Given the description of an element on the screen output the (x, y) to click on. 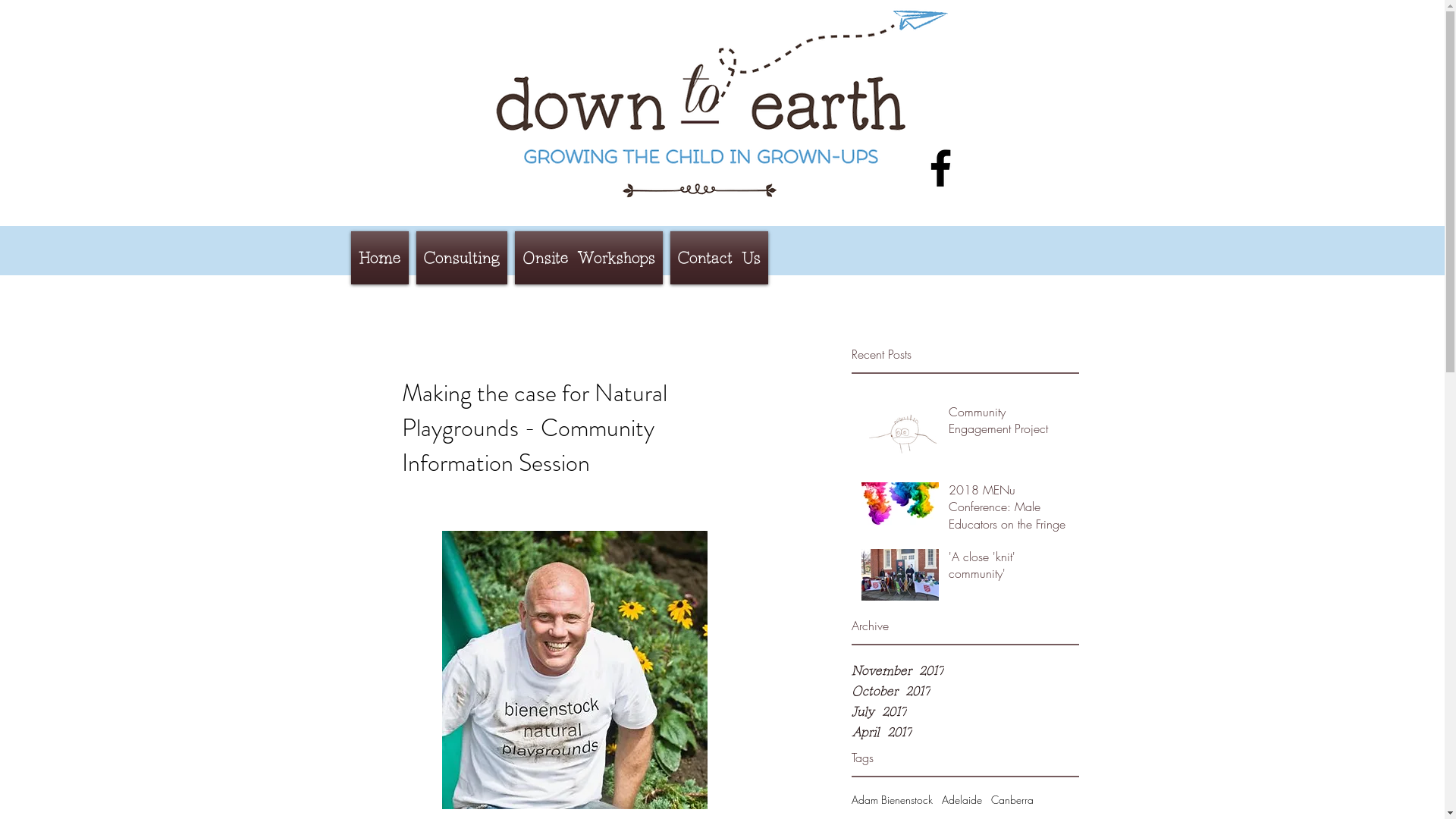
Community Engagement Project Element type: text (1008, 423)
Adelaide Element type: text (961, 799)
2018 MENu Conference: Male Educators on the Fringe Element type: text (1008, 509)
April 2017 Element type: text (964, 731)
July 2017 Element type: text (964, 711)
November 2017 Element type: text (964, 670)
Adam Bienenstock Element type: text (890, 799)
dteps horizontal with line.png Element type: hover (721, 102)
Onsite Workshops Element type: text (588, 257)
'A close 'knit' community' Element type: text (1008, 568)
Canberra Element type: text (1011, 799)
October 2017 Element type: text (964, 690)
Consulting Element type: text (461, 257)
Contact Us Element type: text (718, 257)
Home Element type: text (380, 257)
